Given the description of an element on the screen output the (x, y) to click on. 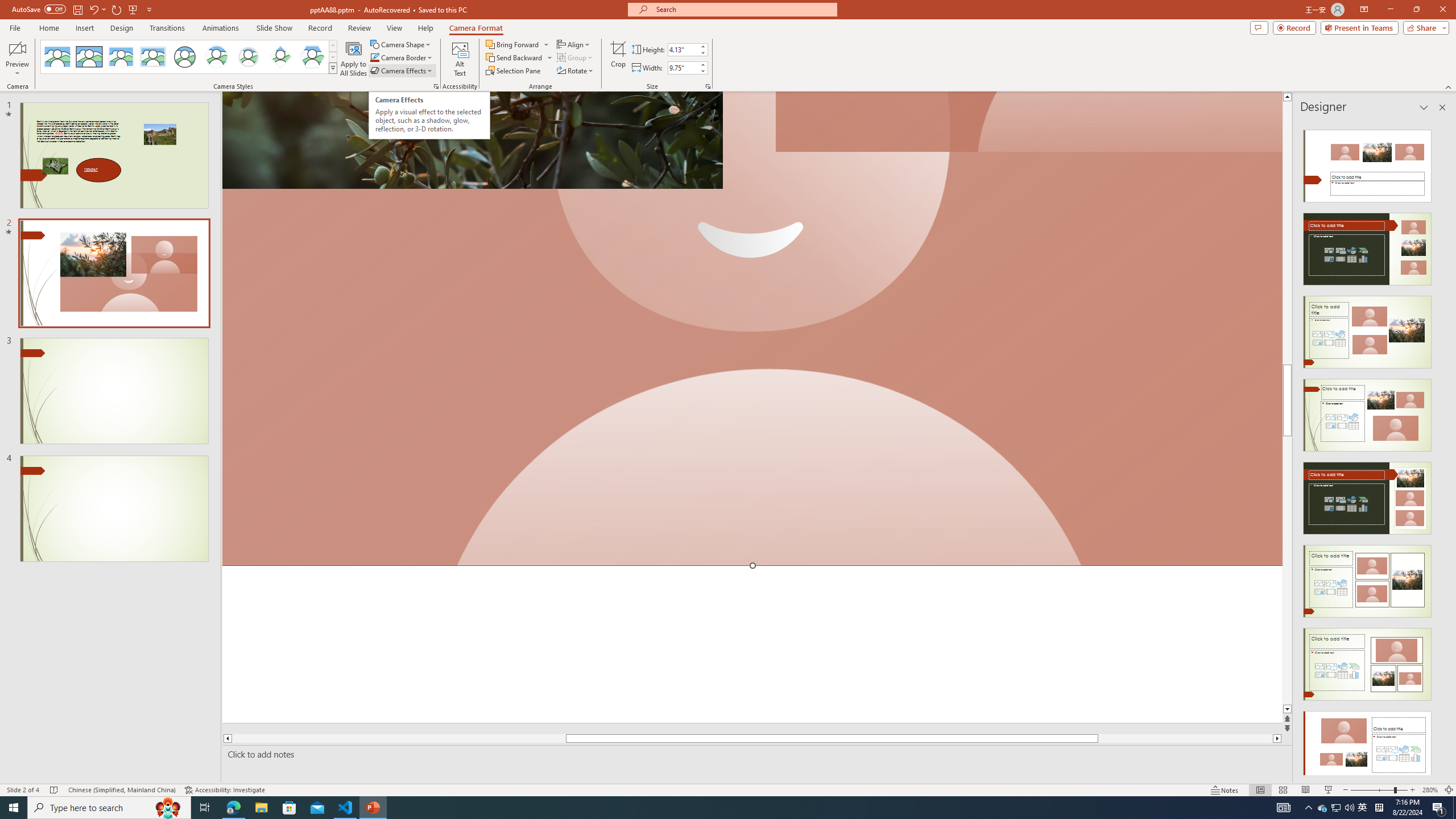
Page down (1287, 570)
Page up (1287, 232)
Camera Effects (402, 69)
Camera Shape (400, 44)
Simple Frame Circle (184, 56)
Line down (1287, 709)
Group (575, 56)
